Given the description of an element on the screen output the (x, y) to click on. 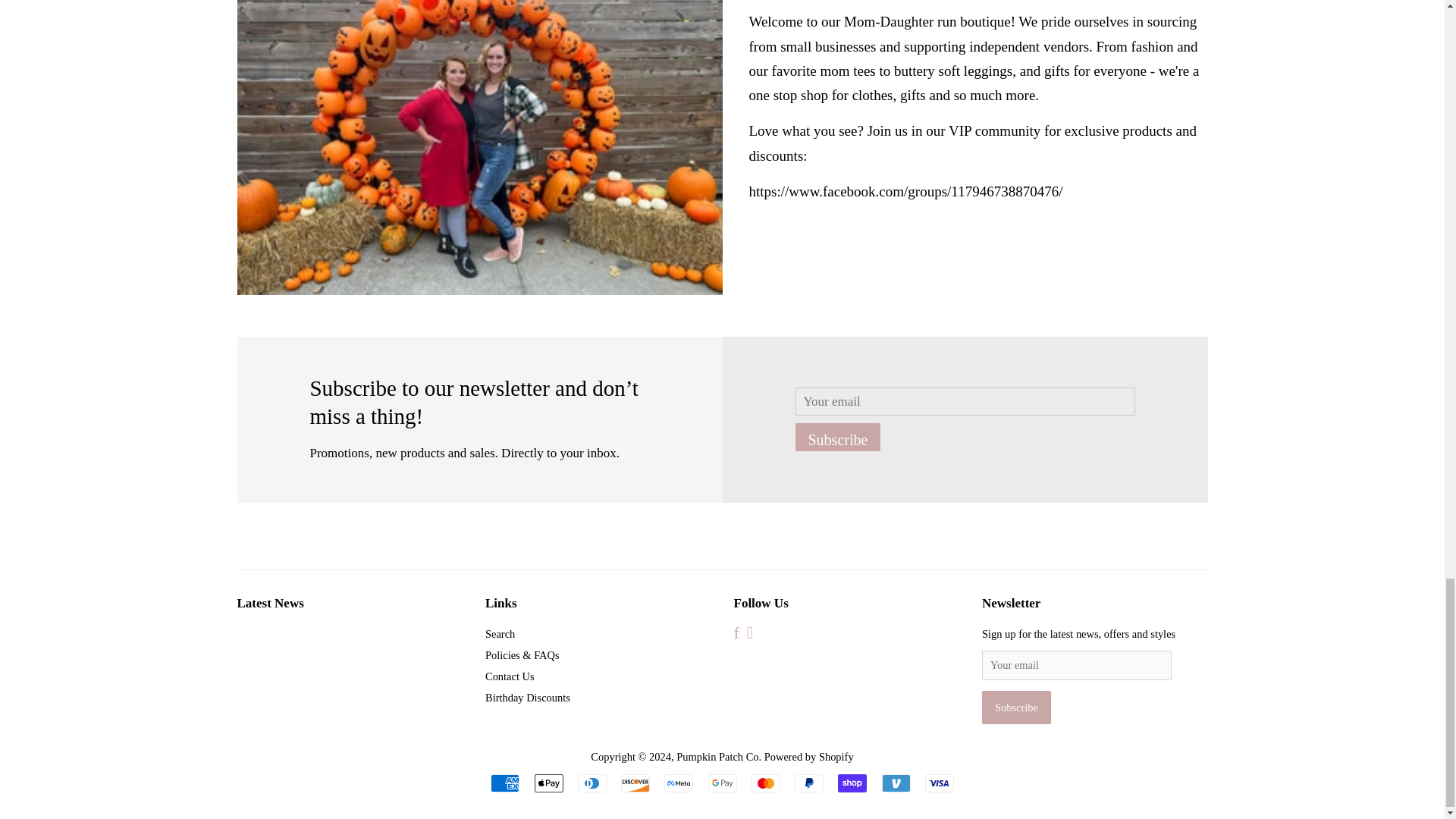
Meta Pay (678, 782)
Venmo (895, 782)
Diners Club (592, 782)
Shop Pay (852, 782)
Subscribe (1016, 707)
Mastercard (765, 782)
American Express (504, 782)
Apple Pay (548, 782)
Google Pay (721, 782)
Visa (938, 782)
